Given the description of an element on the screen output the (x, y) to click on. 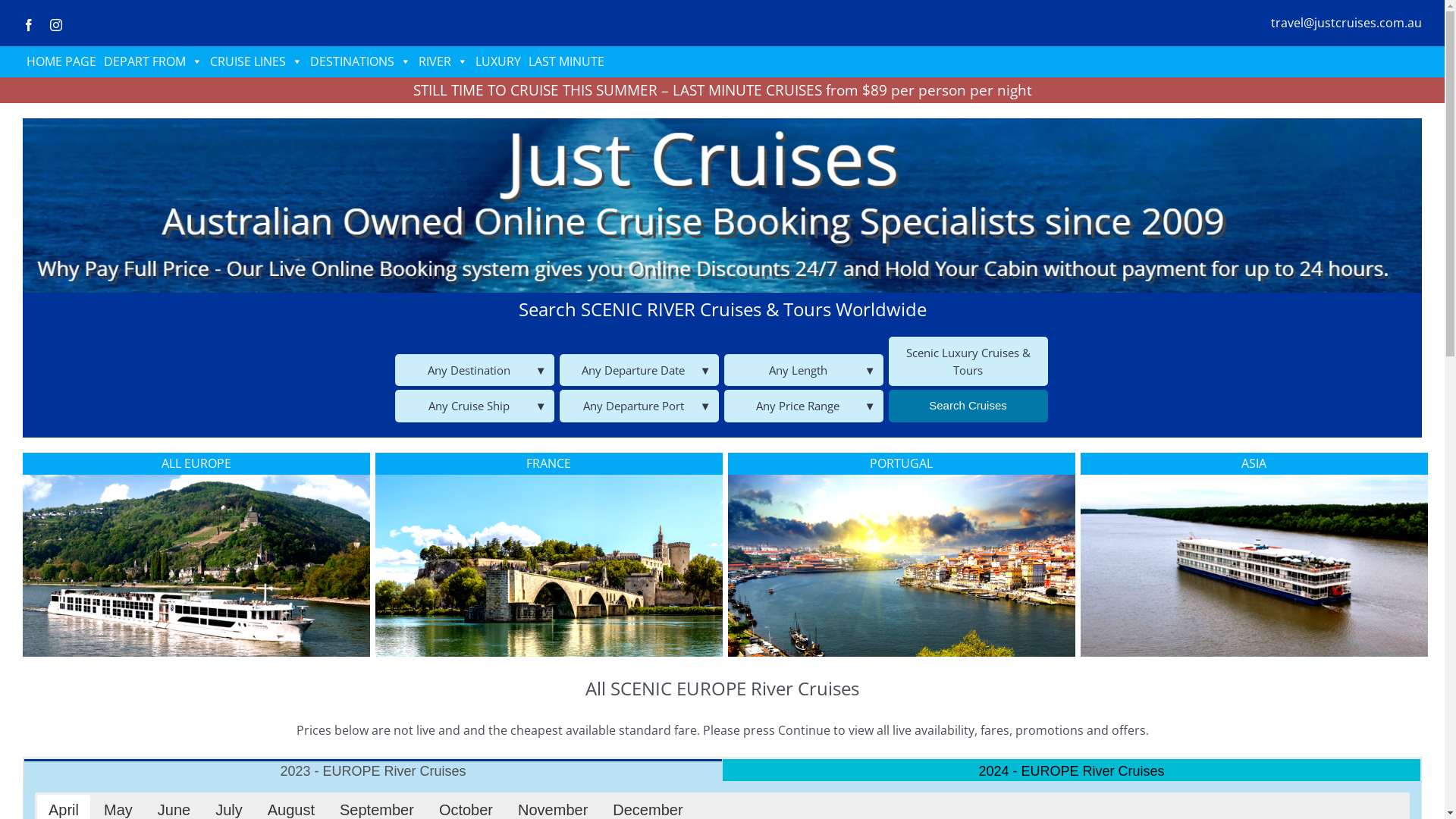
LAST MINUTE Element type: text (566, 61)
HOME PAGE Element type: text (61, 61)
travel@justcruises.com.au Element type: text (1345, 22)
mekong Element type: hover (1253, 565)
RIVER Element type: text (442, 61)
Instagram Element type: text (56, 24)
DEPART FROM Element type: text (153, 61)
LUXURY Element type: text (497, 61)
Facebook Element type: text (28, 24)
title (6) Element type: hover (721, 205)
uniworld (1) Element type: hover (196, 565)
2023 - EUROPE River Cruises Element type: text (372, 770)
DESTINATIONS Element type: text (360, 61)
Search Cruises Element type: text (968, 405)
france Element type: hover (548, 565)
portugal Element type: hover (901, 565)
2024 - EUROPE River Cruises Element type: text (1071, 770)
CRUISE LINES Element type: text (256, 61)
